Given the description of an element on the screen output the (x, y) to click on. 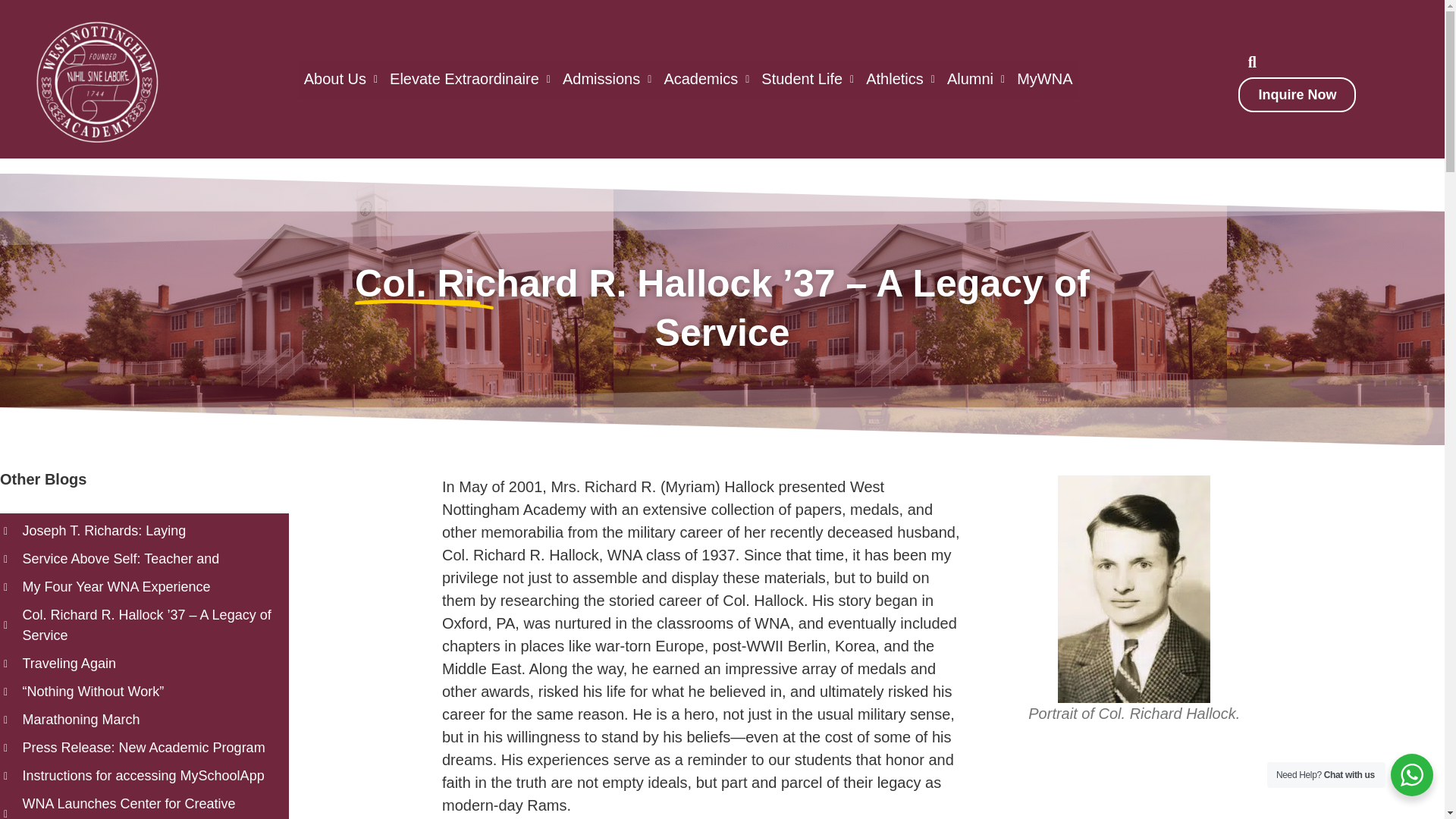
About Us (341, 78)
Admissions (607, 78)
Elevate Extraordinaire (470, 78)
Academics (706, 78)
Search (1244, 60)
